Given the description of an element on the screen output the (x, y) to click on. 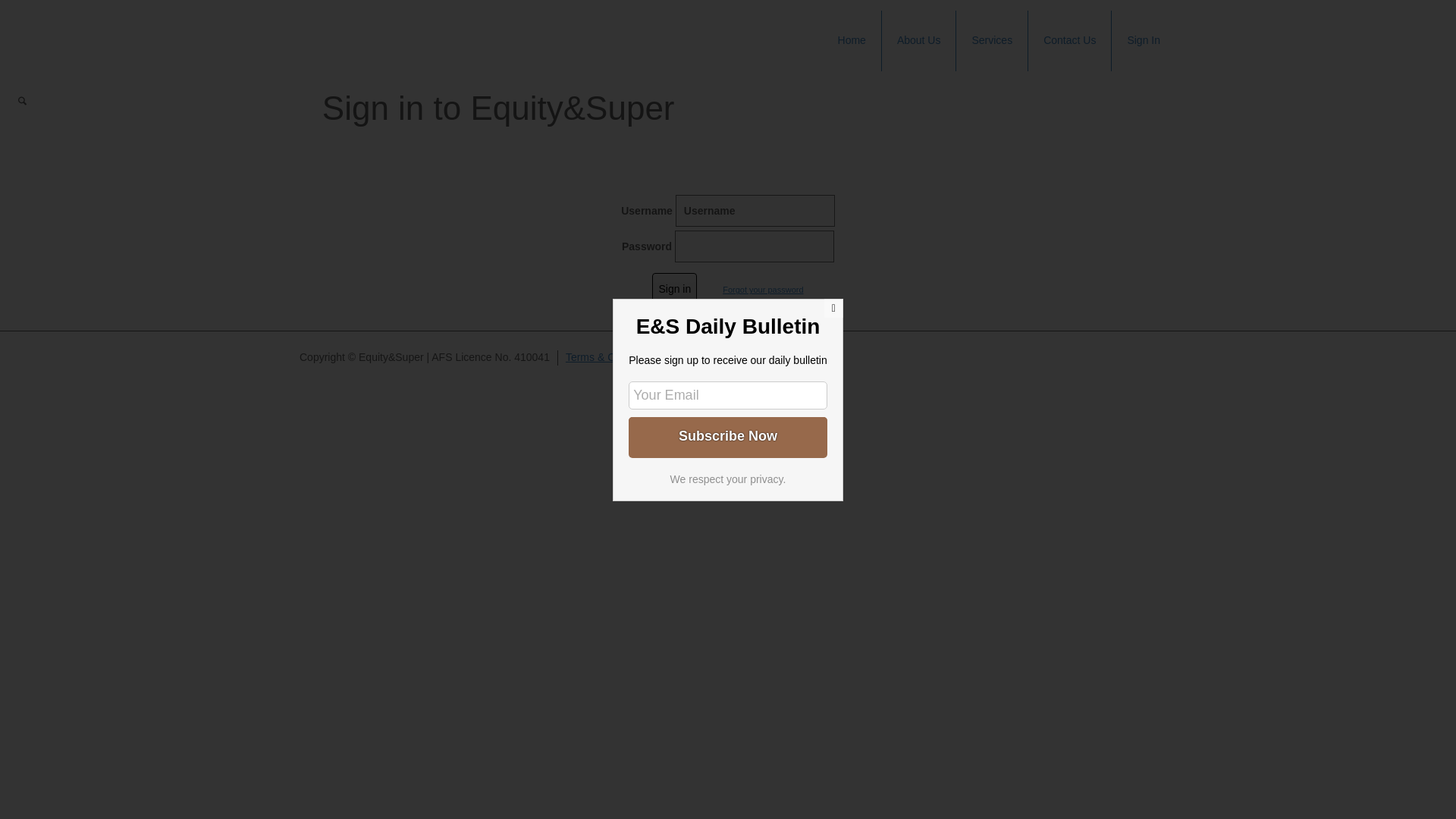
Subscribe Now Element type: text (727, 436)
Equity&Super Element type: hover (399, 18)
Services Element type: text (992, 40)
Sign in Element type: text (674, 288)
Forgot your password Element type: text (751, 289)
Sign In Element type: text (1143, 40)
Search Element type: hover (22, 101)
Terms & Conditions Element type: text (611, 357)
Resources Element type: text (780, 357)
Contact Us Element type: text (1069, 40)
Privacy Policy Element type: text (706, 357)
About Us Element type: text (919, 40)
Home Element type: text (851, 40)
